Given the description of an element on the screen output the (x, y) to click on. 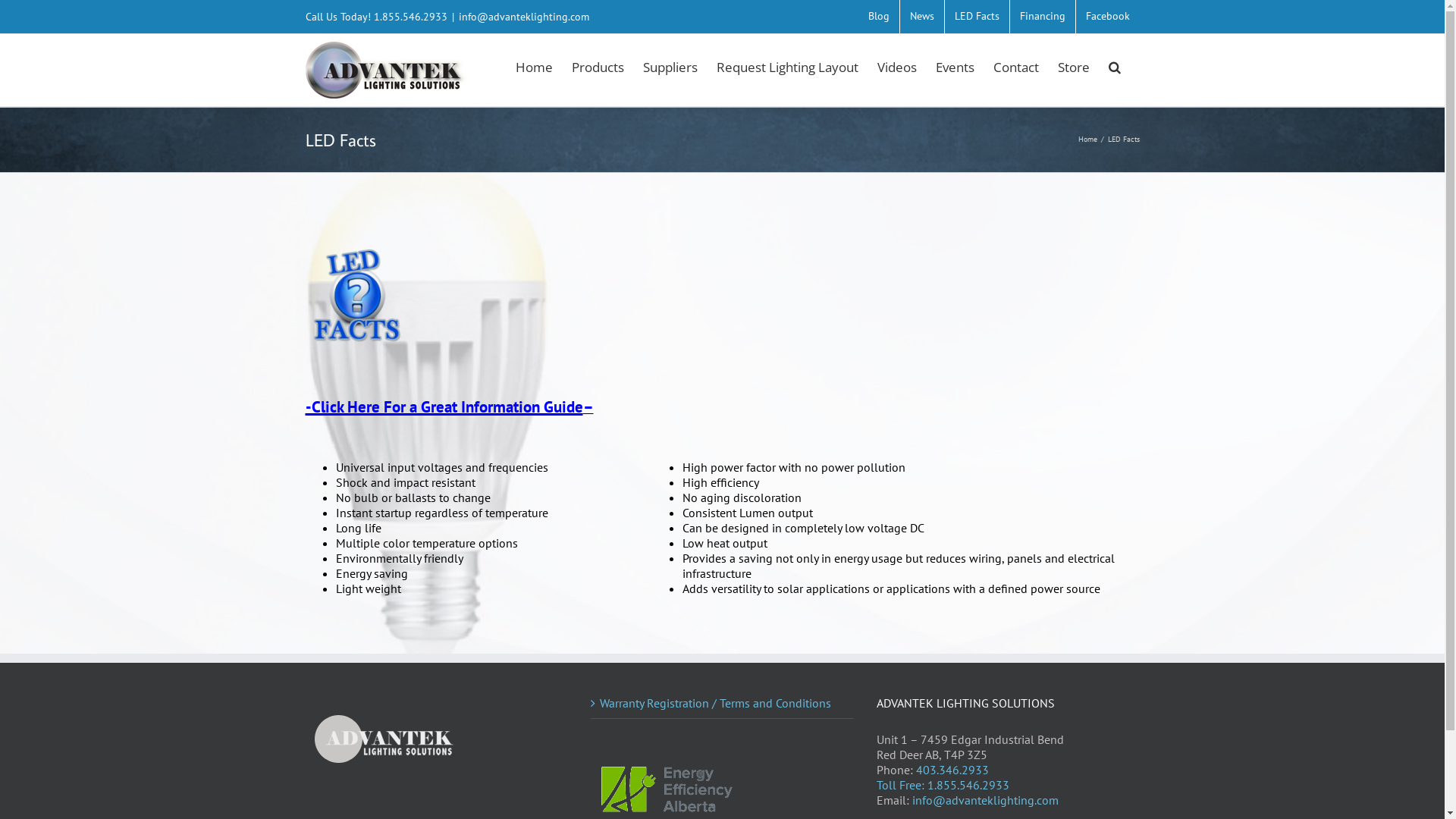
Home Element type: text (533, 65)
LED Facts Element type: text (976, 16)
Financing Element type: text (1042, 16)
Home Element type: text (1087, 139)
403.346.2933
Toll Free: 1.855.546.2933 Element type: text (942, 777)
Search Element type: hover (1114, 65)
info@advanteklighting.com Element type: text (985, 799)
Facebook Element type: text (1107, 16)
Suppliers Element type: text (670, 65)
Warranty Registration / Terms and Conditions Element type: text (722, 702)
info@advanteklighting.com Element type: text (523, 16)
-Click Here For a Great Information Guide Element type: text (443, 406)
Videos Element type: text (896, 65)
News Element type: text (921, 16)
Store Element type: text (1072, 65)
Blog Element type: text (878, 16)
Request Lighting Layout Element type: text (786, 65)
Products Element type: text (597, 65)
Events Element type: text (954, 65)
Contact Element type: text (1015, 65)
